Given the description of an element on the screen output the (x, y) to click on. 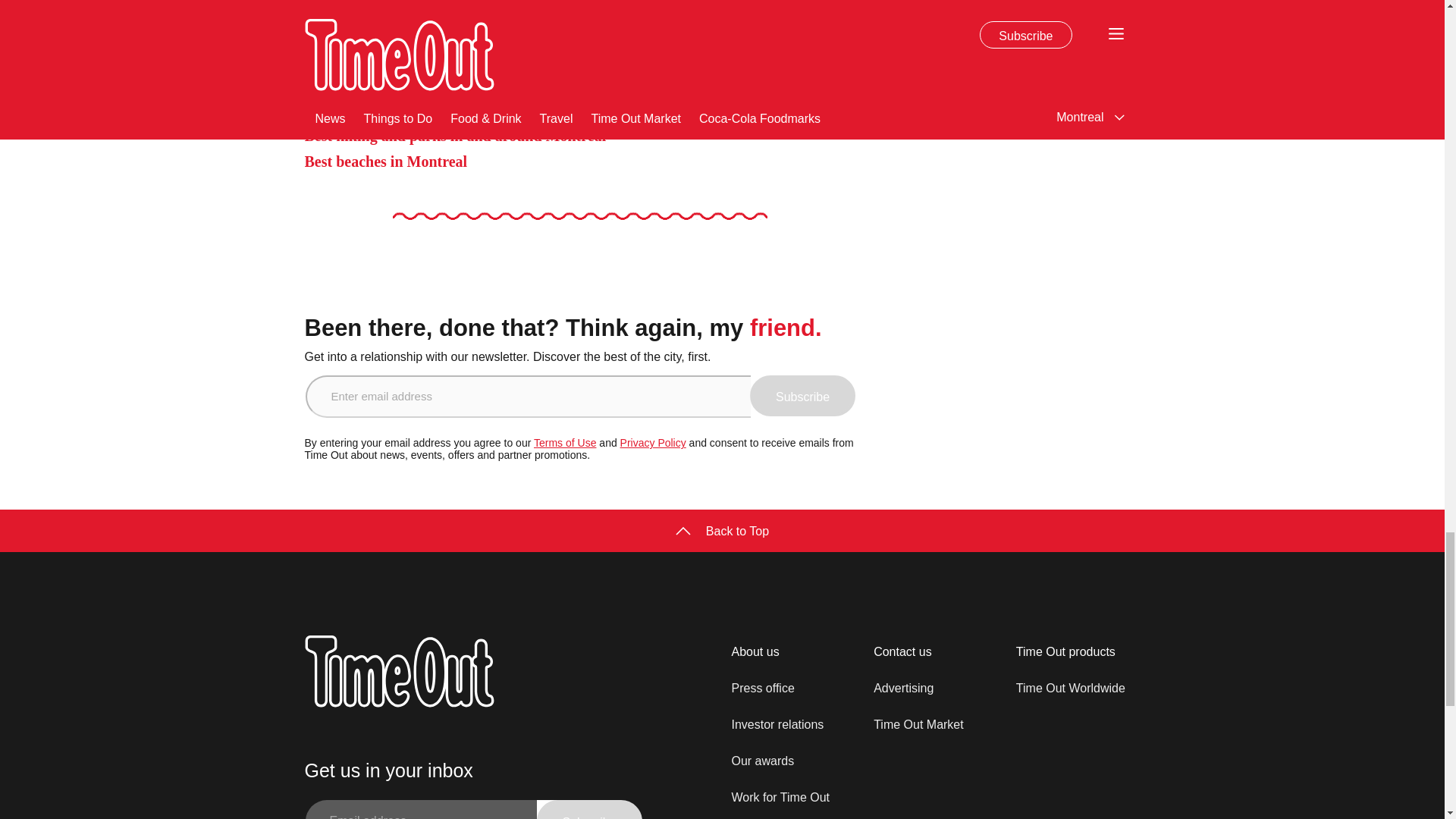
Subscribe (802, 395)
Subscribe (589, 809)
